Given the description of an element on the screen output the (x, y) to click on. 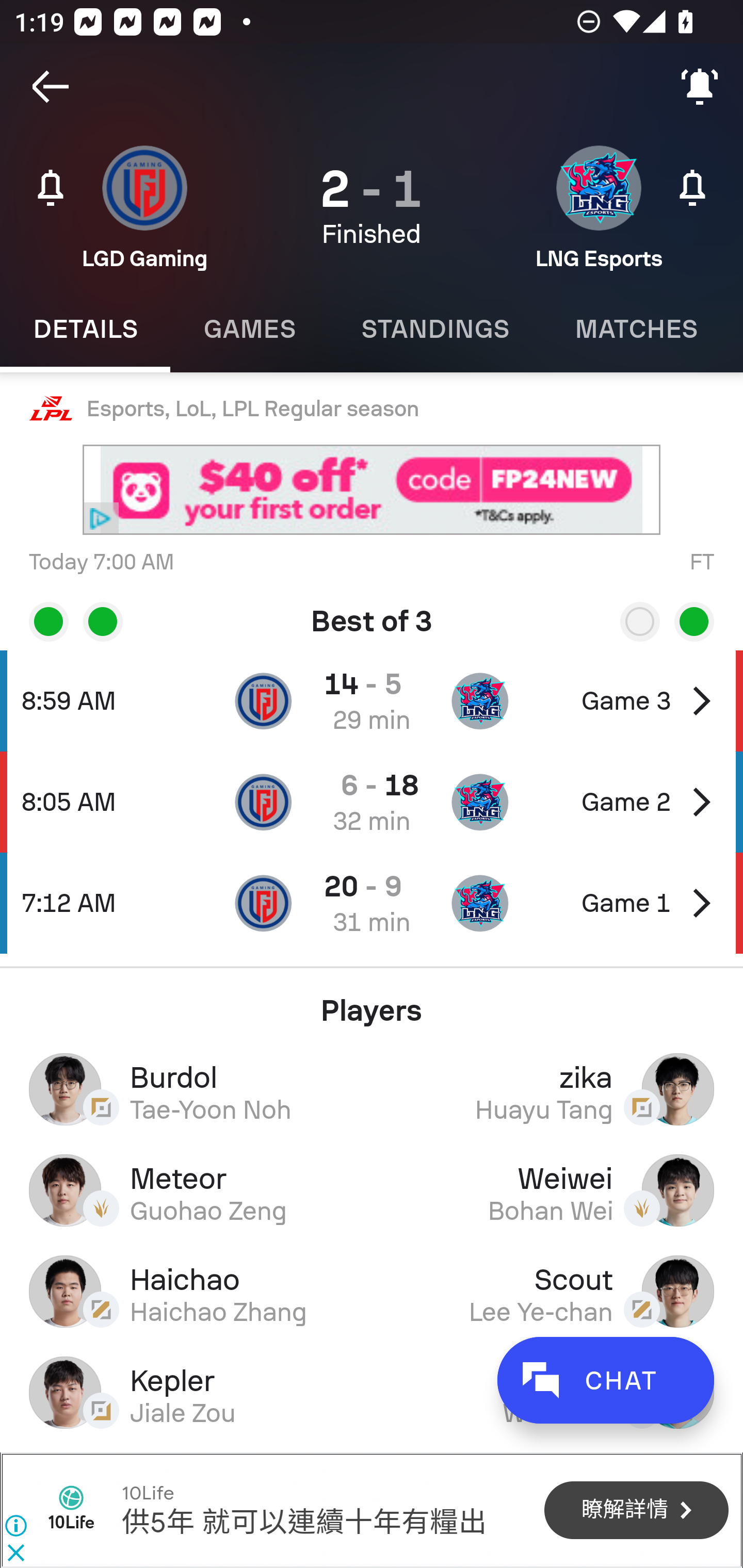
Navigate up (50, 86)
Games GAMES (249, 329)
Standings STANDINGS (434, 329)
Matches MATCHES (635, 329)
Esports, LoL, LPL Regular season (371, 409)
cf281ee6b5b36c080d8d (371, 489)
Best of 3 (371, 614)
8:59 AM 14 - 5 29 min Game 3 (371, 700)
8:05 AM 6 - 18 32 min Game 2 (371, 801)
7:12 AM 20 - 9 31 min Game 1 (371, 902)
Players (371, 1002)
Burdol zika Tae-Yoon Noh Huayu Tang (371, 1088)
Meteor Weiwei Guohao Zeng Bohan Wei (371, 1189)
Haichao Scout Haichao Zhang Lee Ye-chan (371, 1291)
CHAT (605, 1380)
10Life (71, 1509)
10Life (147, 1492)
瞭解詳情 (636, 1511)
供5年 就可以連續十年有糧出 (303, 1522)
